Given the description of an element on the screen output the (x, y) to click on. 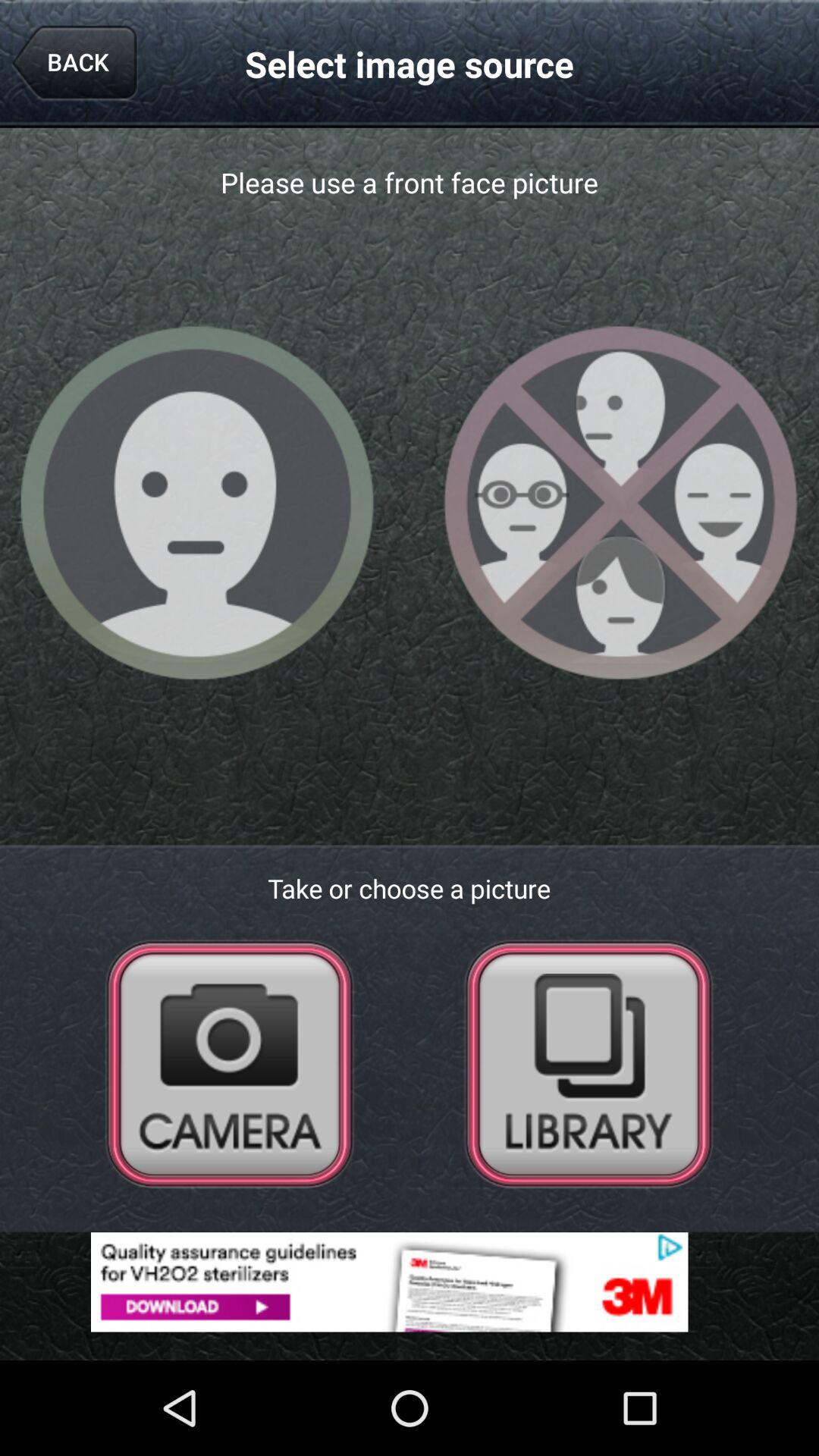
learn about this product (409, 1282)
